Given the description of an element on the screen output the (x, y) to click on. 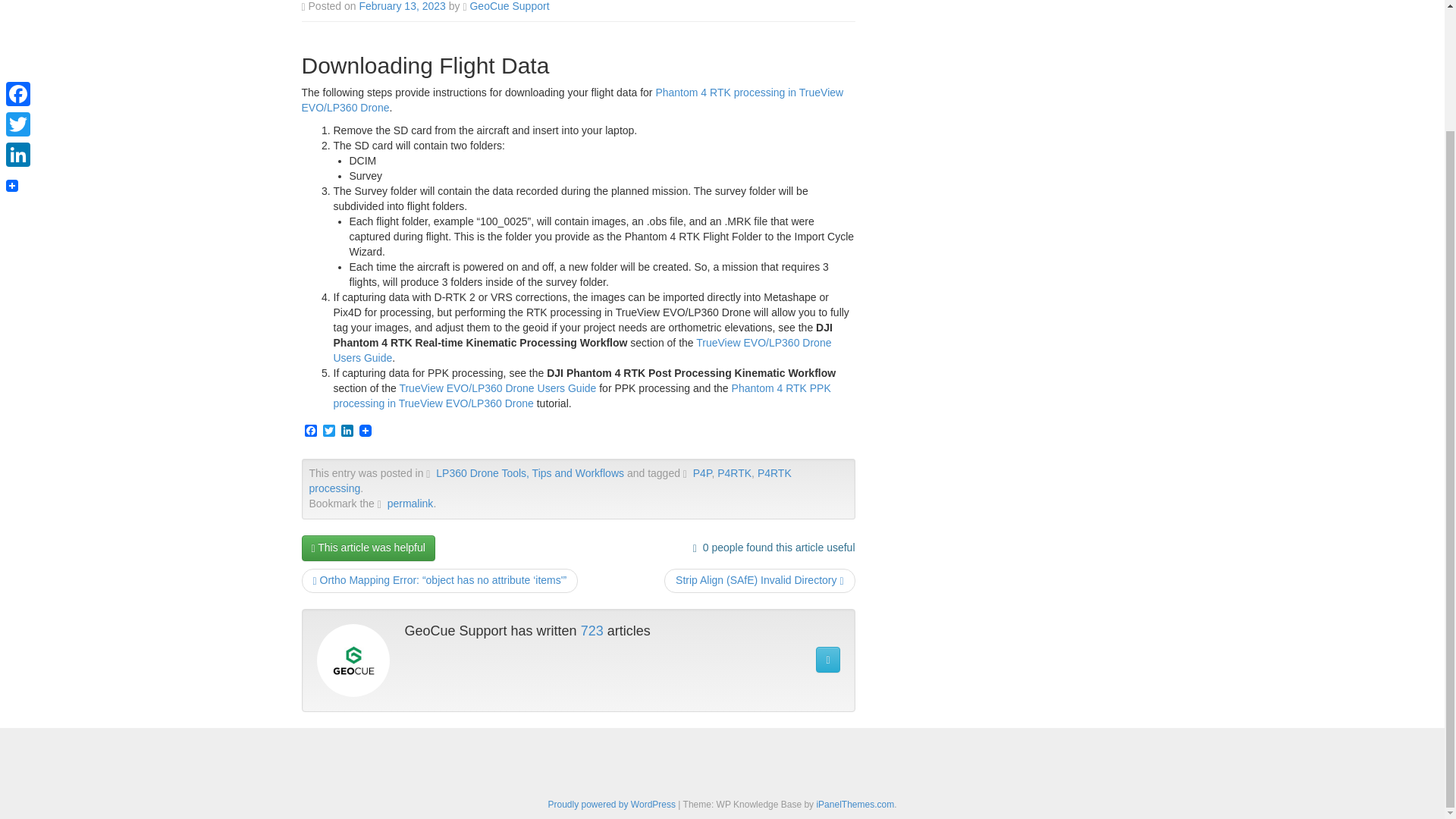
Facebook (310, 431)
February 13, 2023 (401, 6)
GeoCue Support (508, 6)
Twitter (328, 431)
P4RTK processing (550, 480)
P4RTK (734, 472)
Twitter (328, 431)
Facebook (310, 431)
LinkedIn (346, 431)
LinkedIn (346, 431)
LP360 Drone Tools, Tips and Workflows (529, 472)
LinkedIn (17, 12)
permalink (410, 503)
P4P (702, 472)
